Given the description of an element on the screen output the (x, y) to click on. 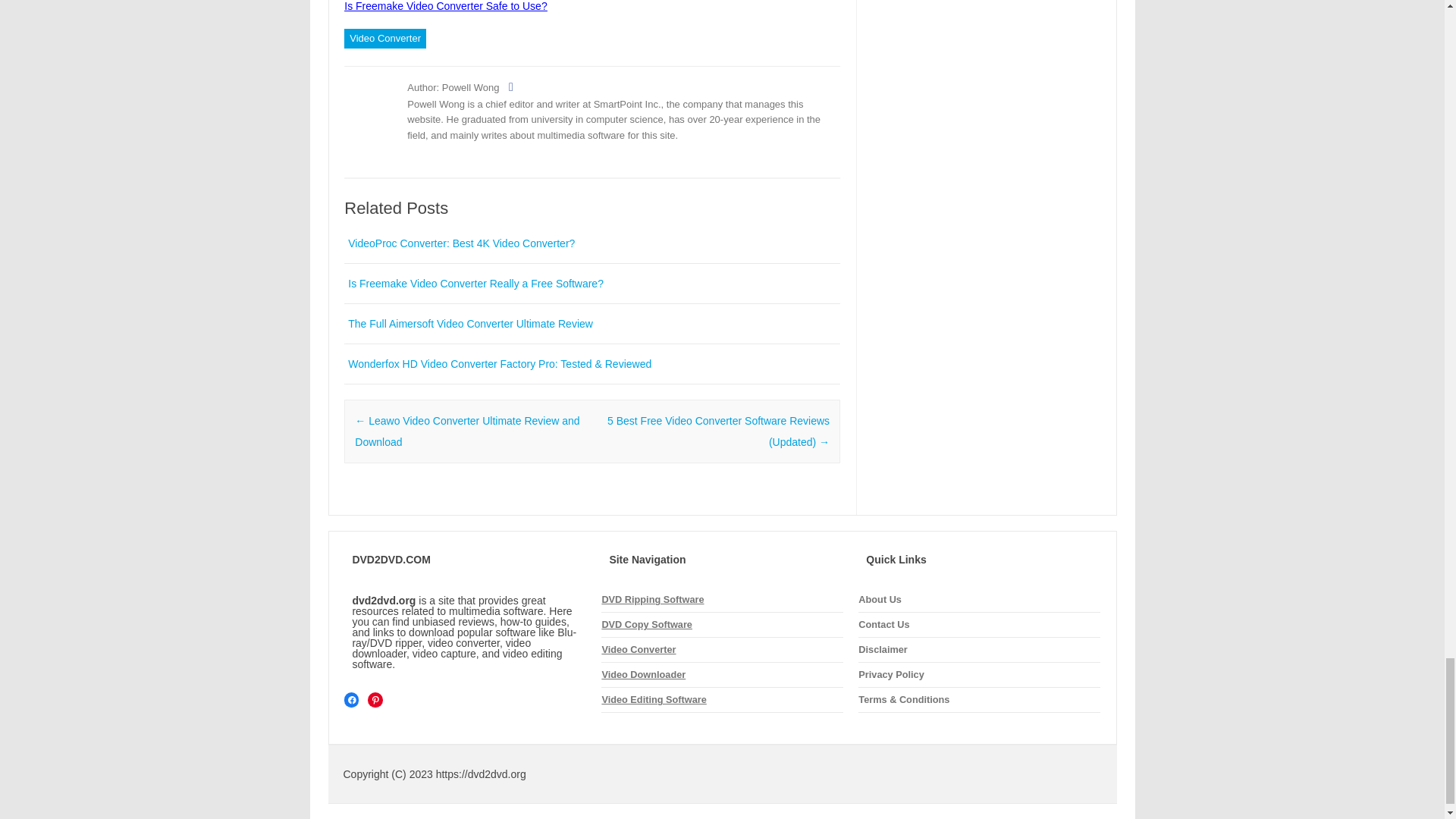
The Full Aimersoft Video Converter Ultimate Review (469, 323)
Is Freemake Video Converter Really a Free Software? (475, 283)
VideoProc Converter: Best 4K Video Converter? (461, 243)
